Given the description of an element on the screen output the (x, y) to click on. 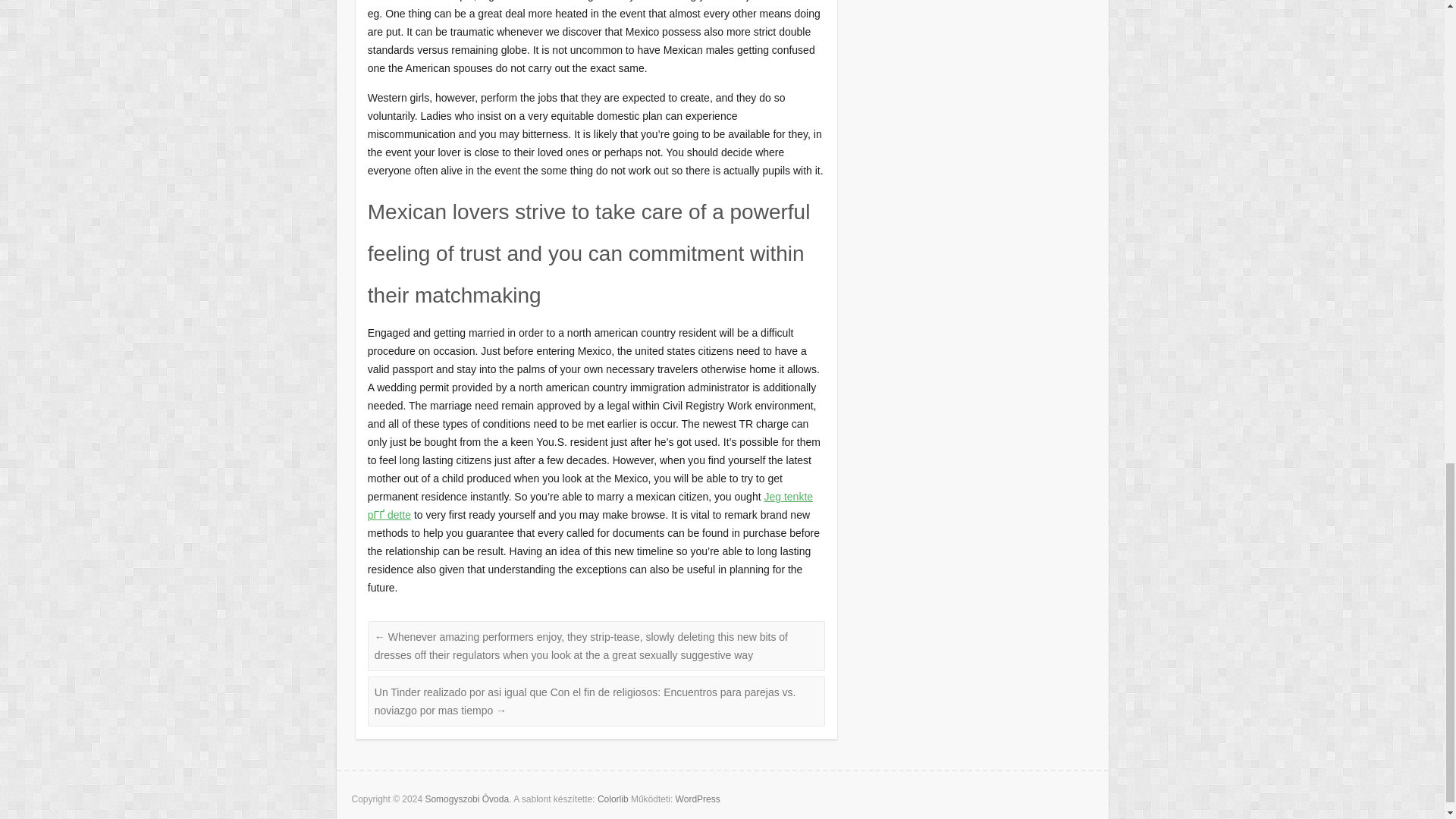
Colorlib (612, 798)
Colorlib (612, 798)
WordPress (697, 798)
WordPress (697, 798)
